Given the description of an element on the screen output the (x, y) to click on. 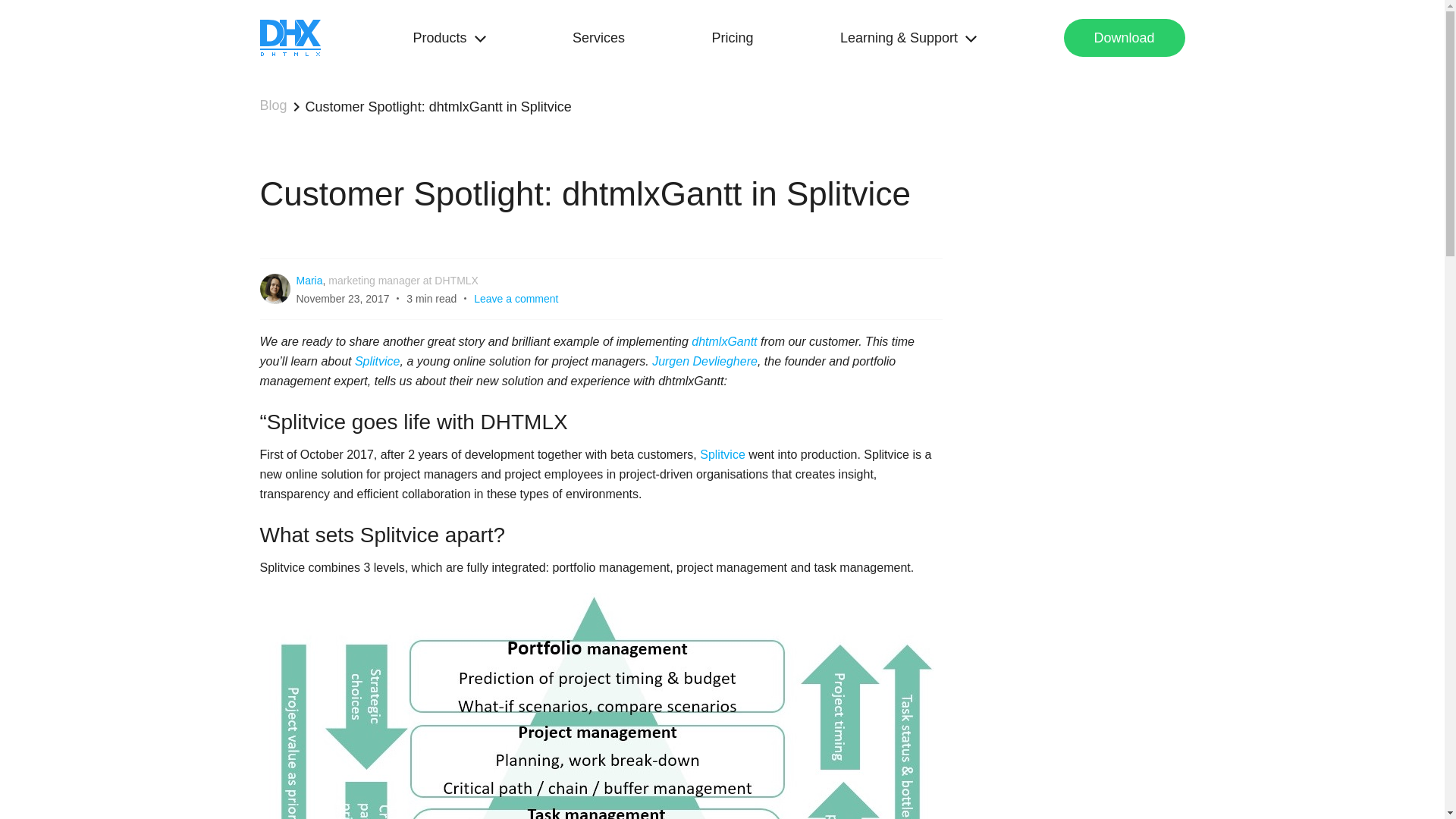
Download (1123, 37)
Services (598, 37)
Pricing (731, 37)
